Given the description of an element on the screen output the (x, y) to click on. 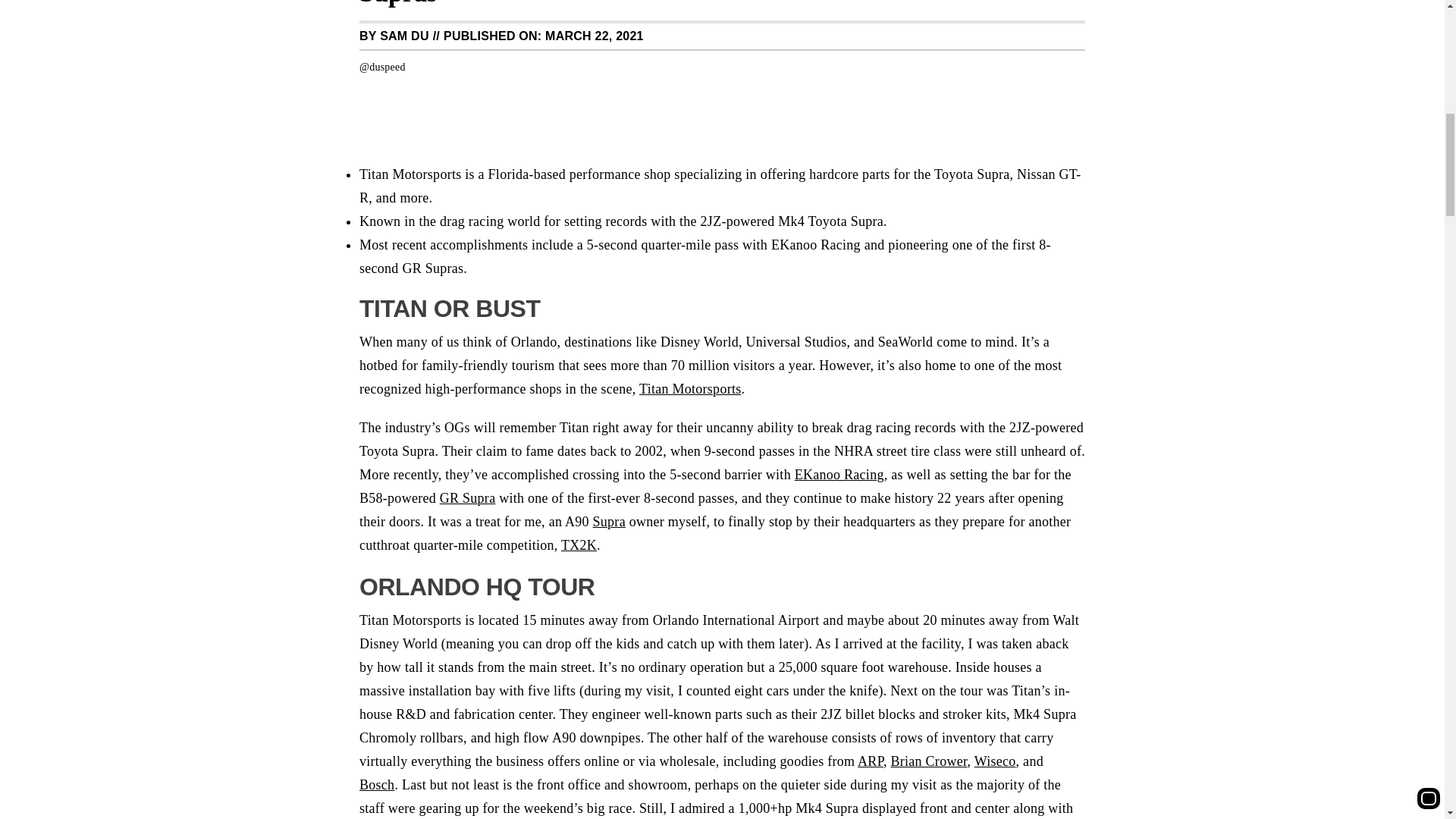
Titan Motorsports (690, 388)
Posts by Sam Du (404, 35)
SAM DU (404, 35)
